Given the description of an element on the screen output the (x, y) to click on. 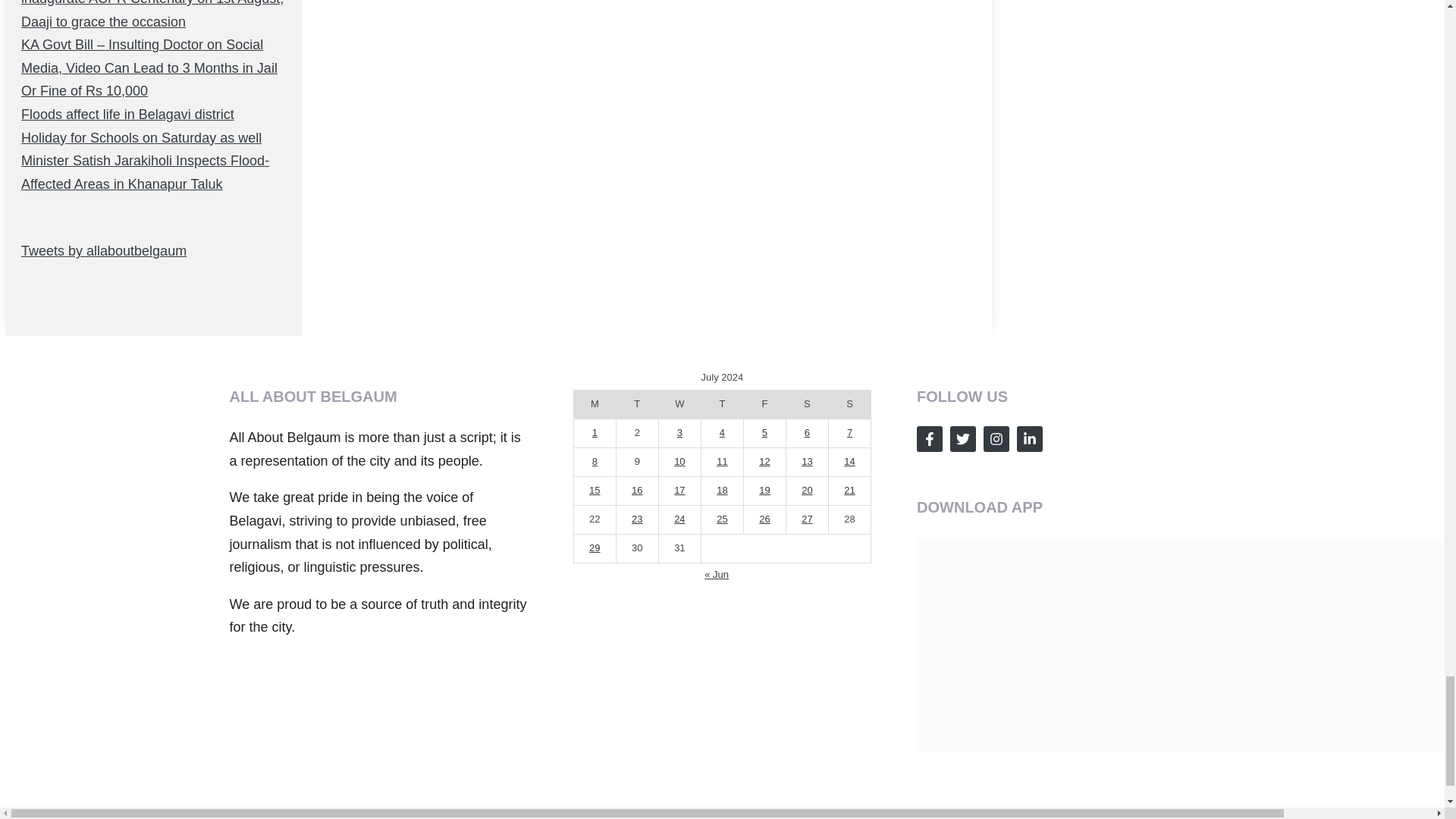
Friday (764, 403)
Tuesday (636, 403)
Wednesday (679, 403)
Monday (594, 403)
Thursday (721, 403)
Saturday (807, 403)
